Given the description of an element on the screen output the (x, y) to click on. 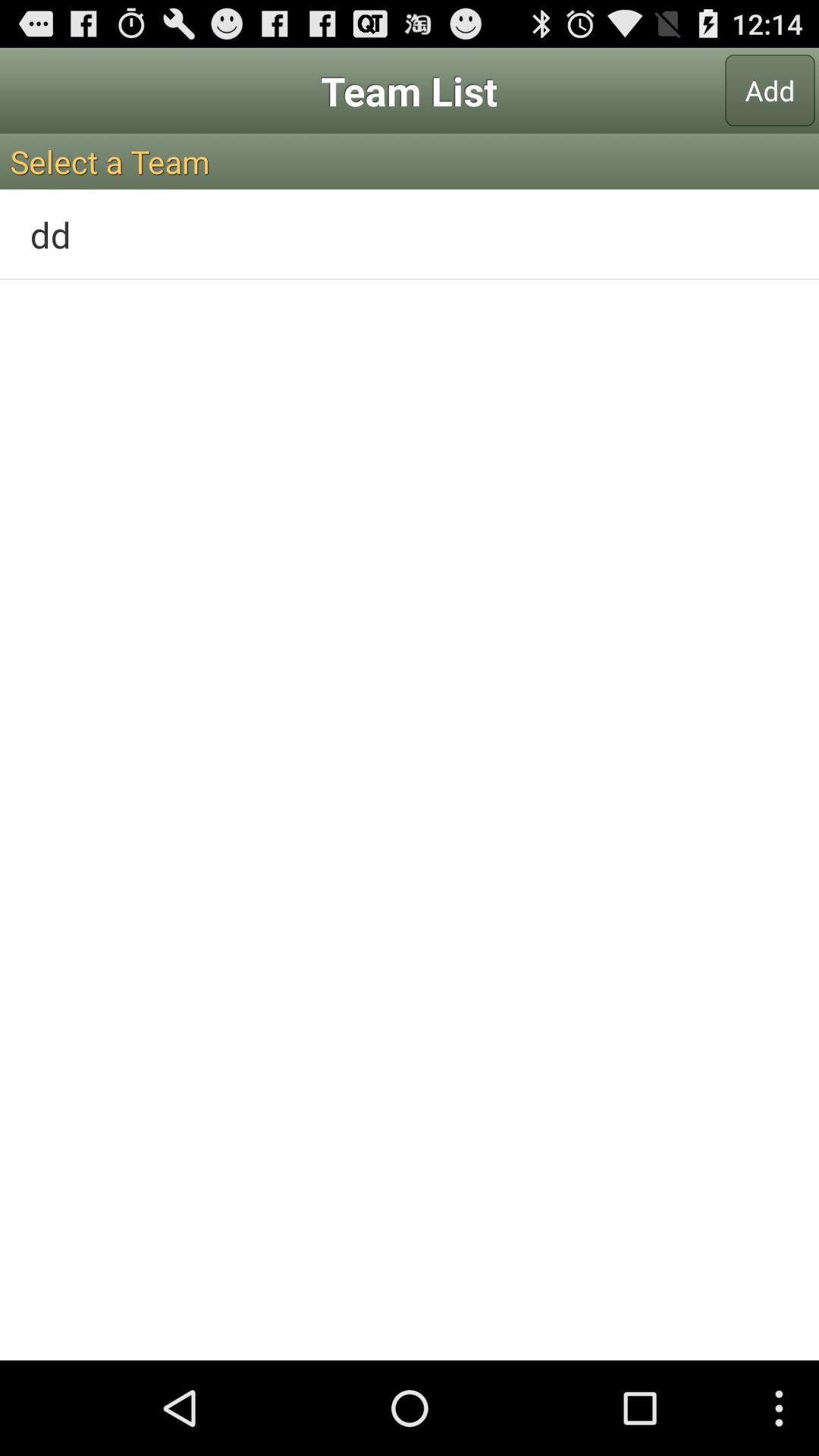
flip until add (770, 90)
